Given the description of an element on the screen output the (x, y) to click on. 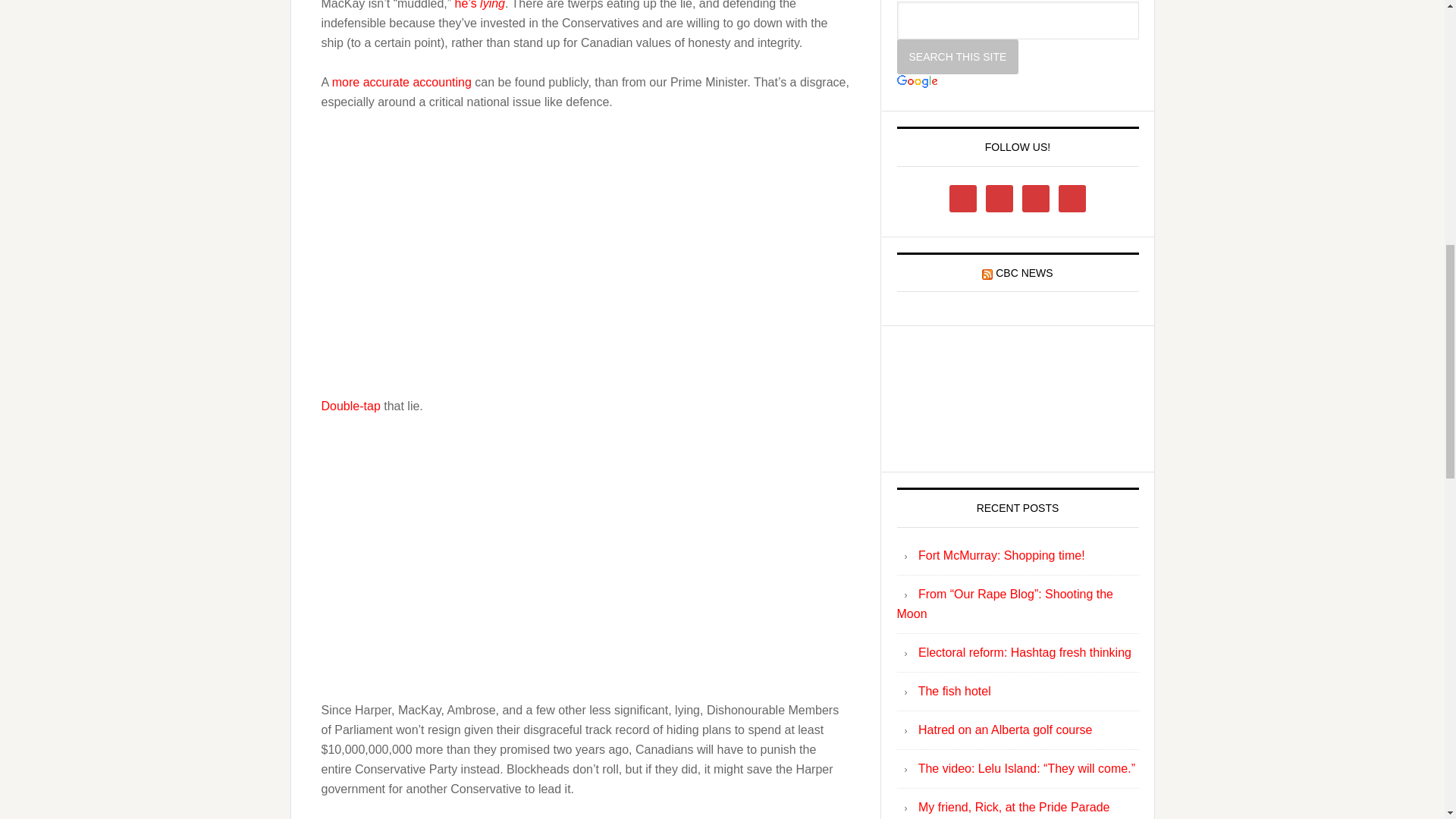
Search this site (956, 56)
more accurate accounting (401, 82)
Double-tap (350, 405)
